Given the description of an element on the screen output the (x, y) to click on. 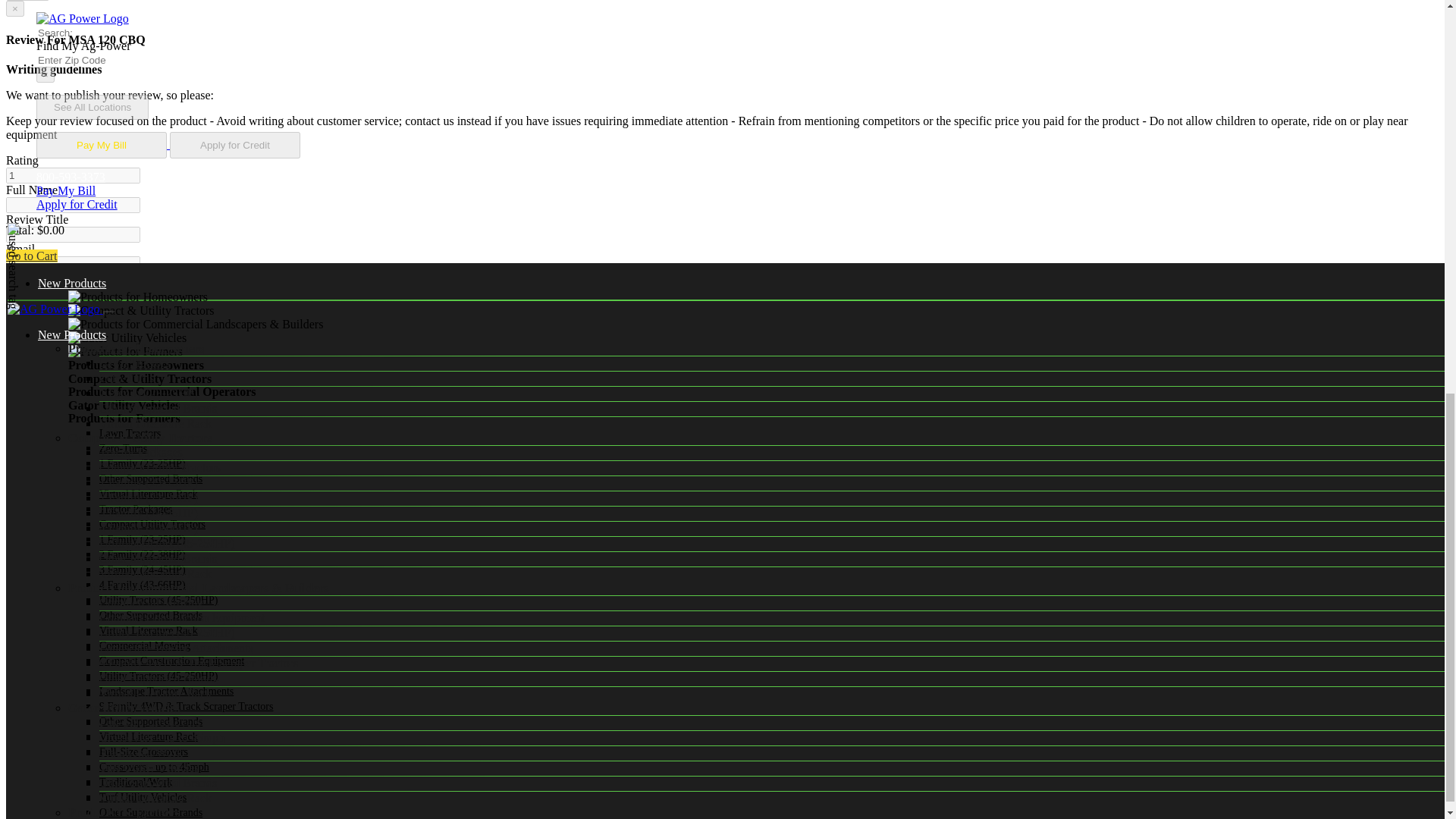
1 (72, 175)
Crossovers - up to 45mph (154, 2)
Turf Utility Vehicles (142, 30)
